Given the description of an element on the screen output the (x, y) to click on. 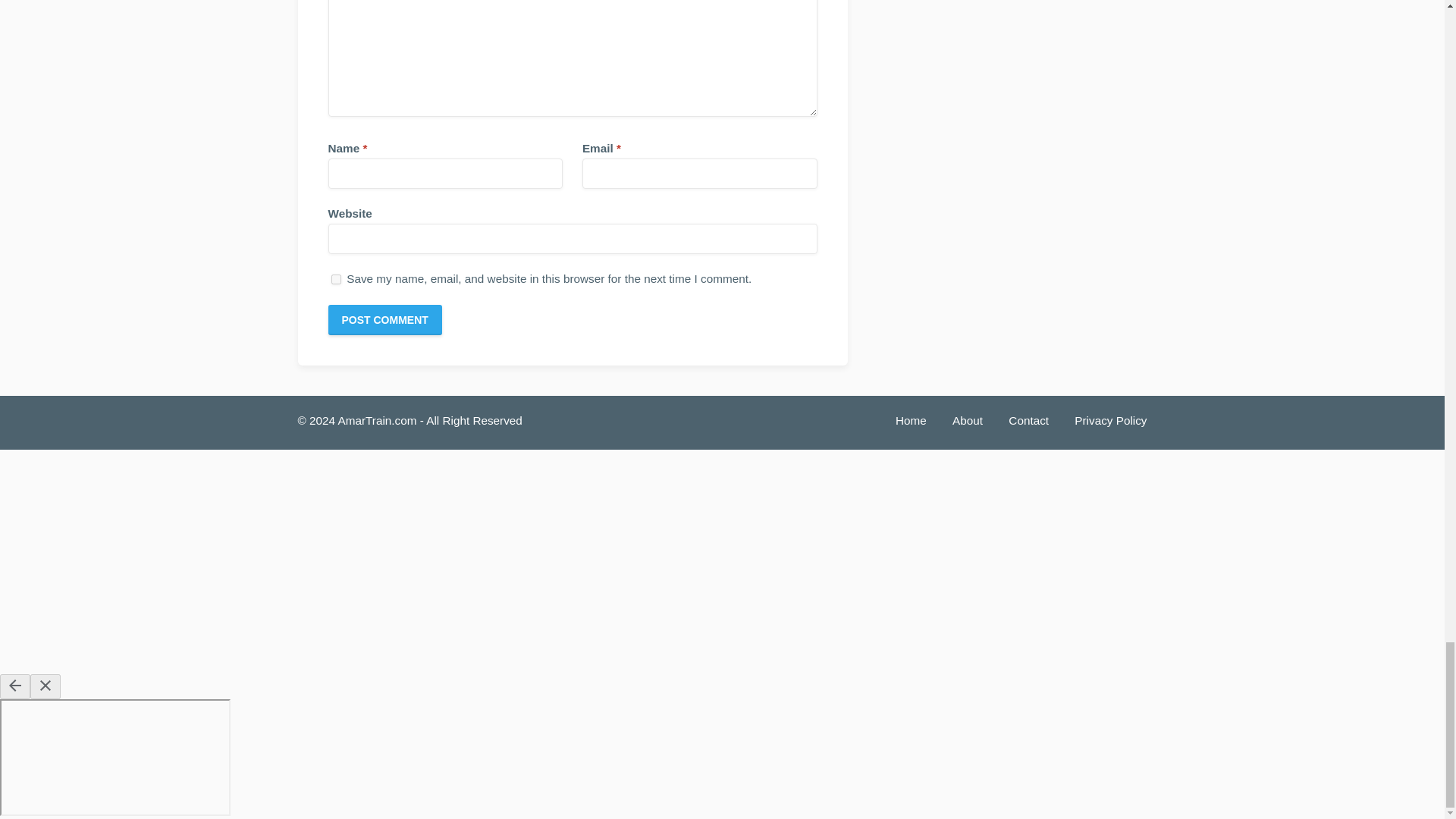
yes (335, 279)
Post Comment (384, 319)
